Given the description of an element on the screen output the (x, y) to click on. 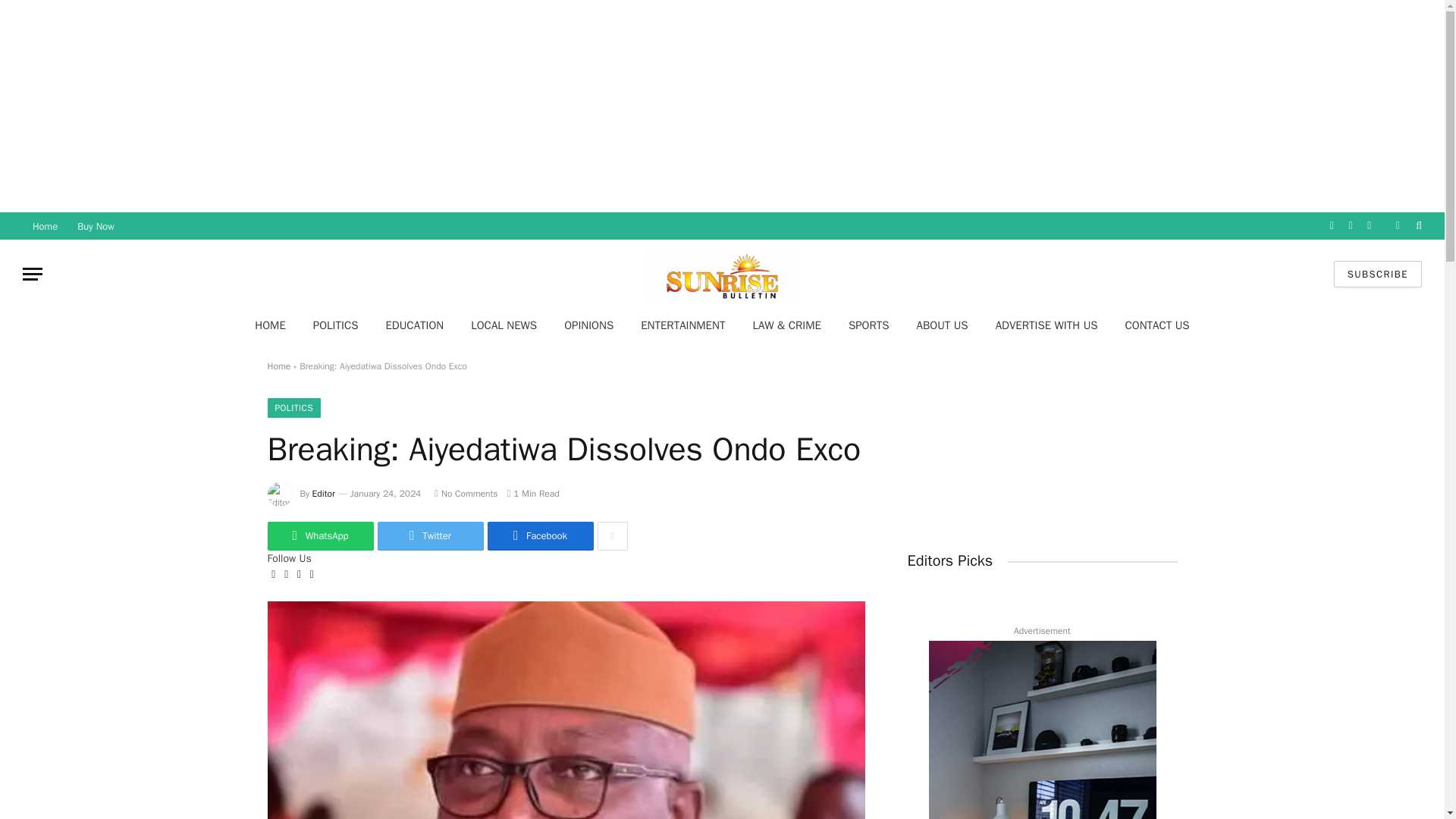
Sunrisebulletin (722, 273)
LOCAL NEWS (503, 324)
EDUCATION (414, 324)
Switch to Dark Design - easier on eyes. (1397, 225)
ADVERTISE WITH US (1046, 324)
ABOUT US (941, 324)
OPINIONS (588, 324)
SPORTS (868, 324)
SUBSCRIBE (1377, 274)
POLITICS (335, 324)
